Given the description of an element on the screen output the (x, y) to click on. 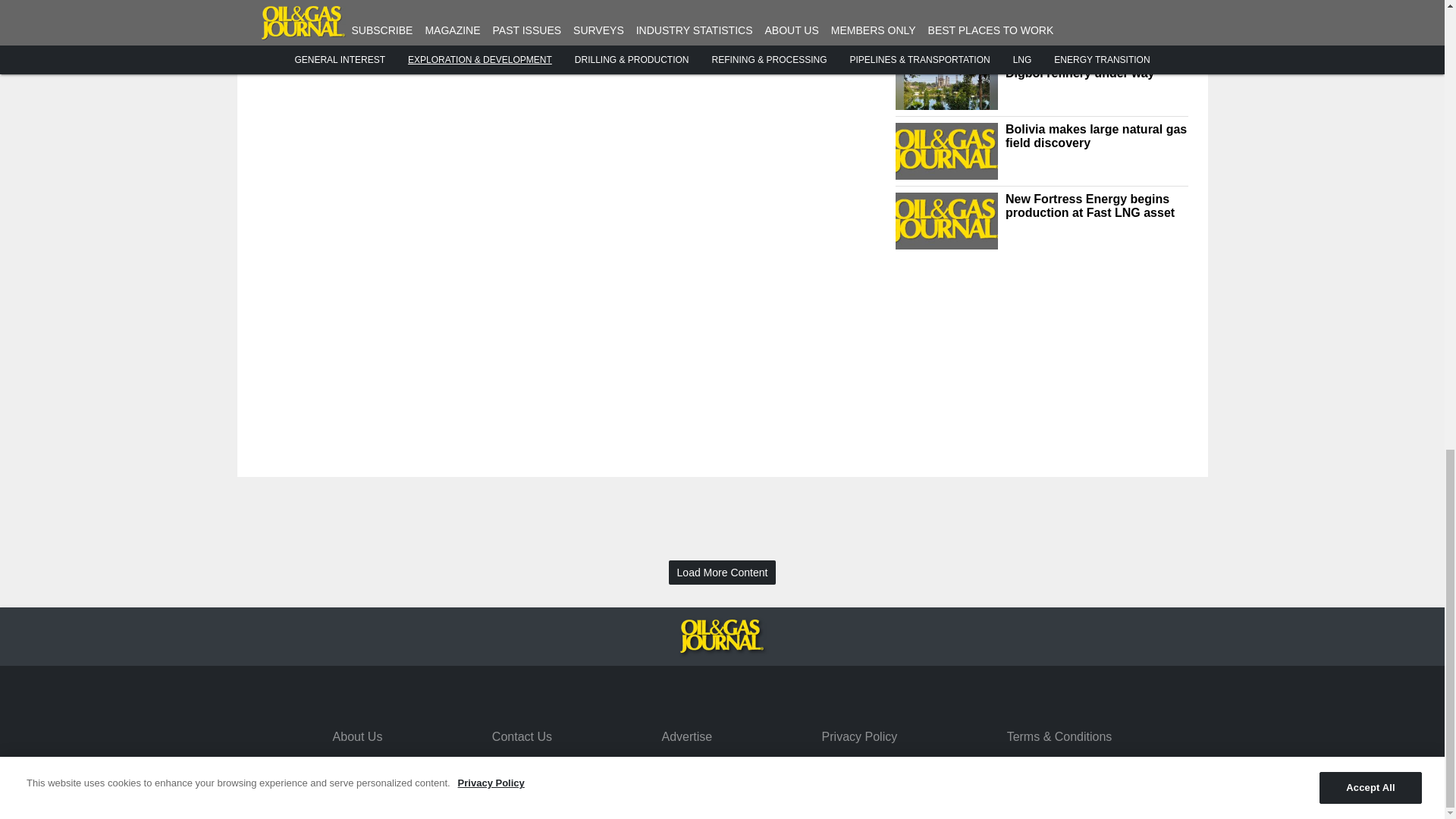
Load More Content (722, 572)
New Fortress Energy begins production at Fast LNG asset (1097, 206)
Bolivia makes large natural gas field discovery (1097, 135)
